Given the description of an element on the screen output the (x, y) to click on. 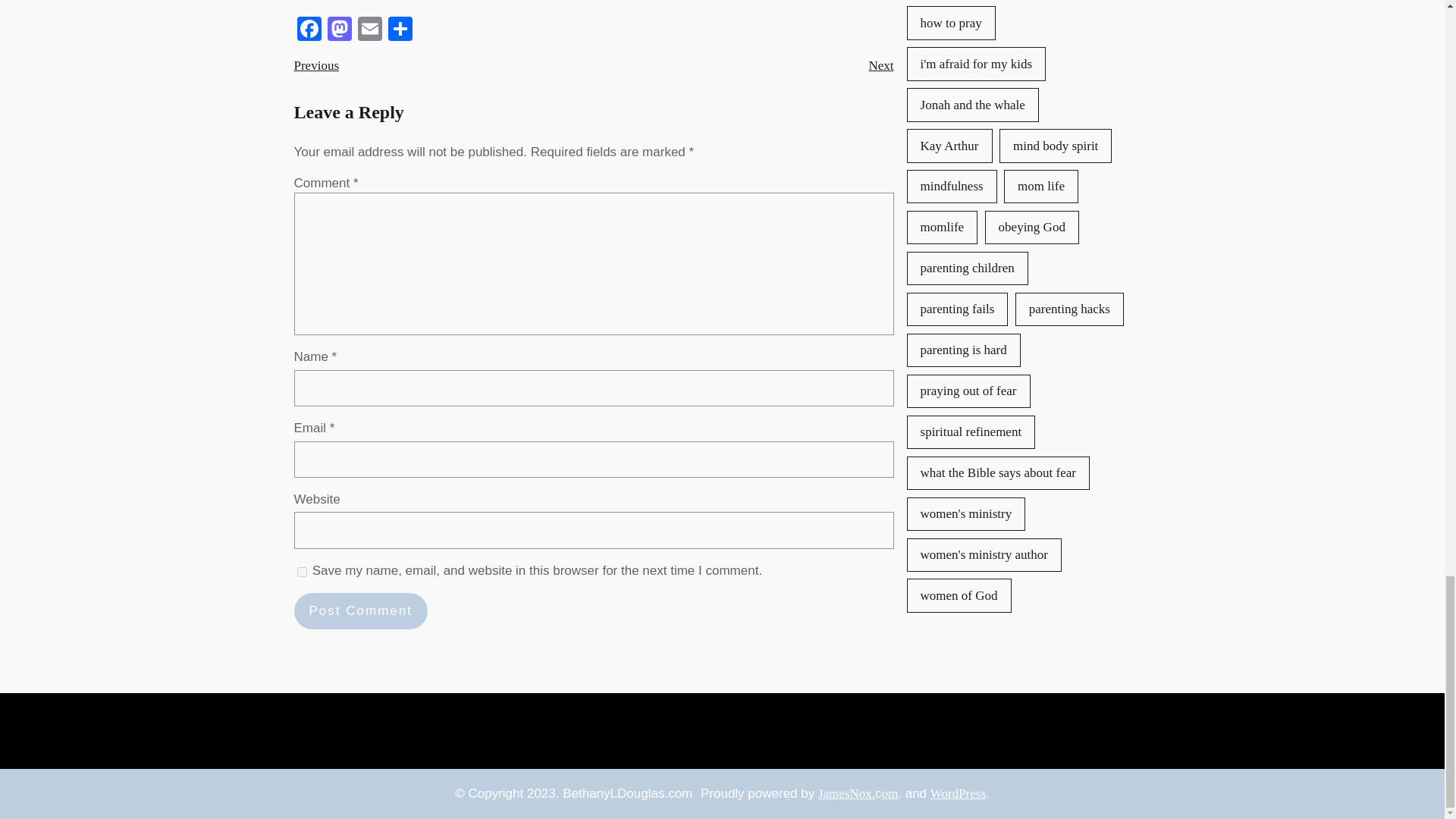
Post Comment (361, 610)
Email (370, 32)
yes (302, 572)
Previous (316, 65)
Mastodon (339, 32)
Mastodon (339, 32)
Post Comment (361, 610)
Email (370, 32)
Facebook (309, 32)
Next (880, 65)
Facebook (309, 32)
